Given the description of an element on the screen output the (x, y) to click on. 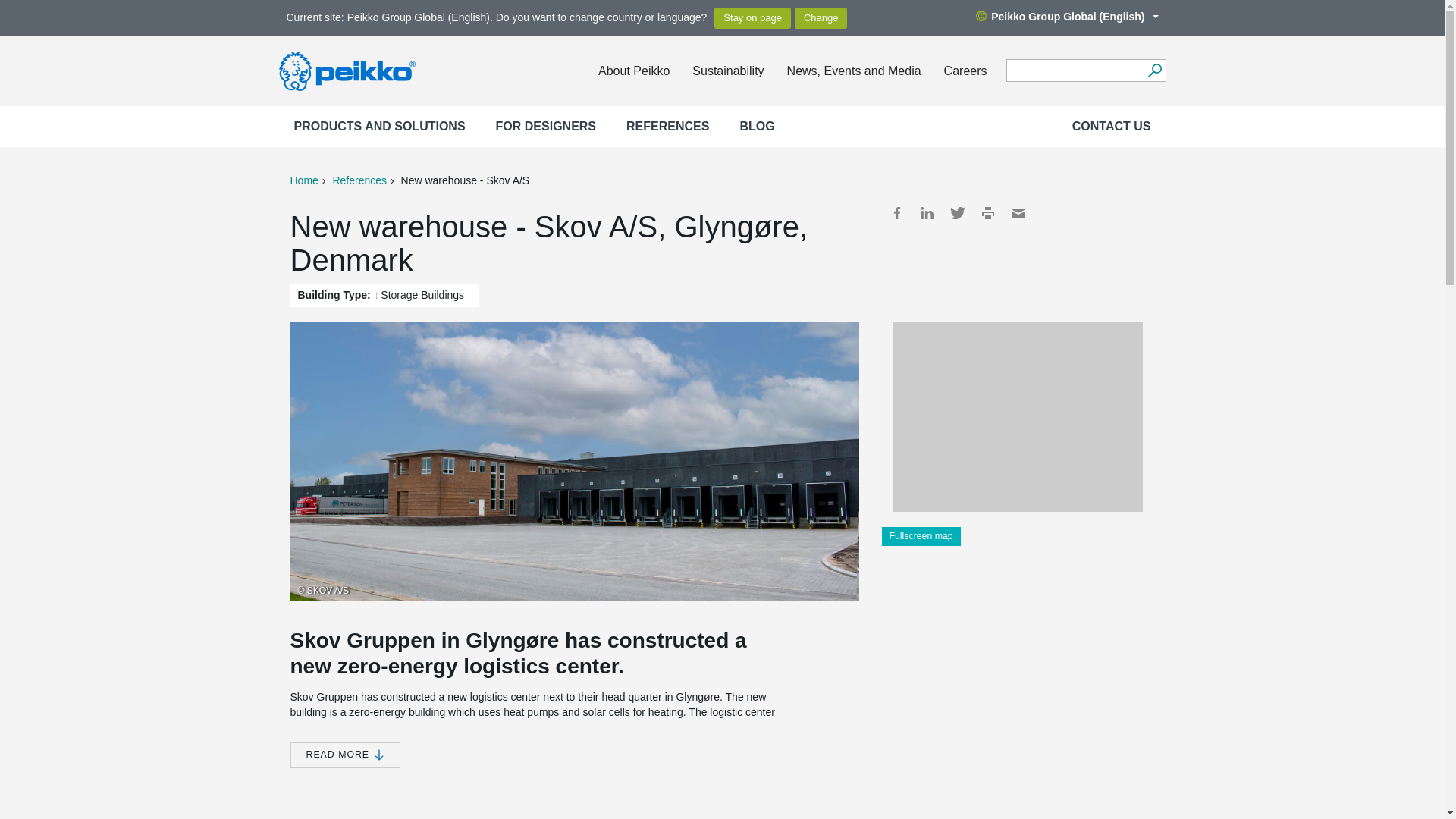
Stay on page (752, 17)
Email link (1017, 212)
Change (820, 17)
